Given the description of an element on the screen output the (x, y) to click on. 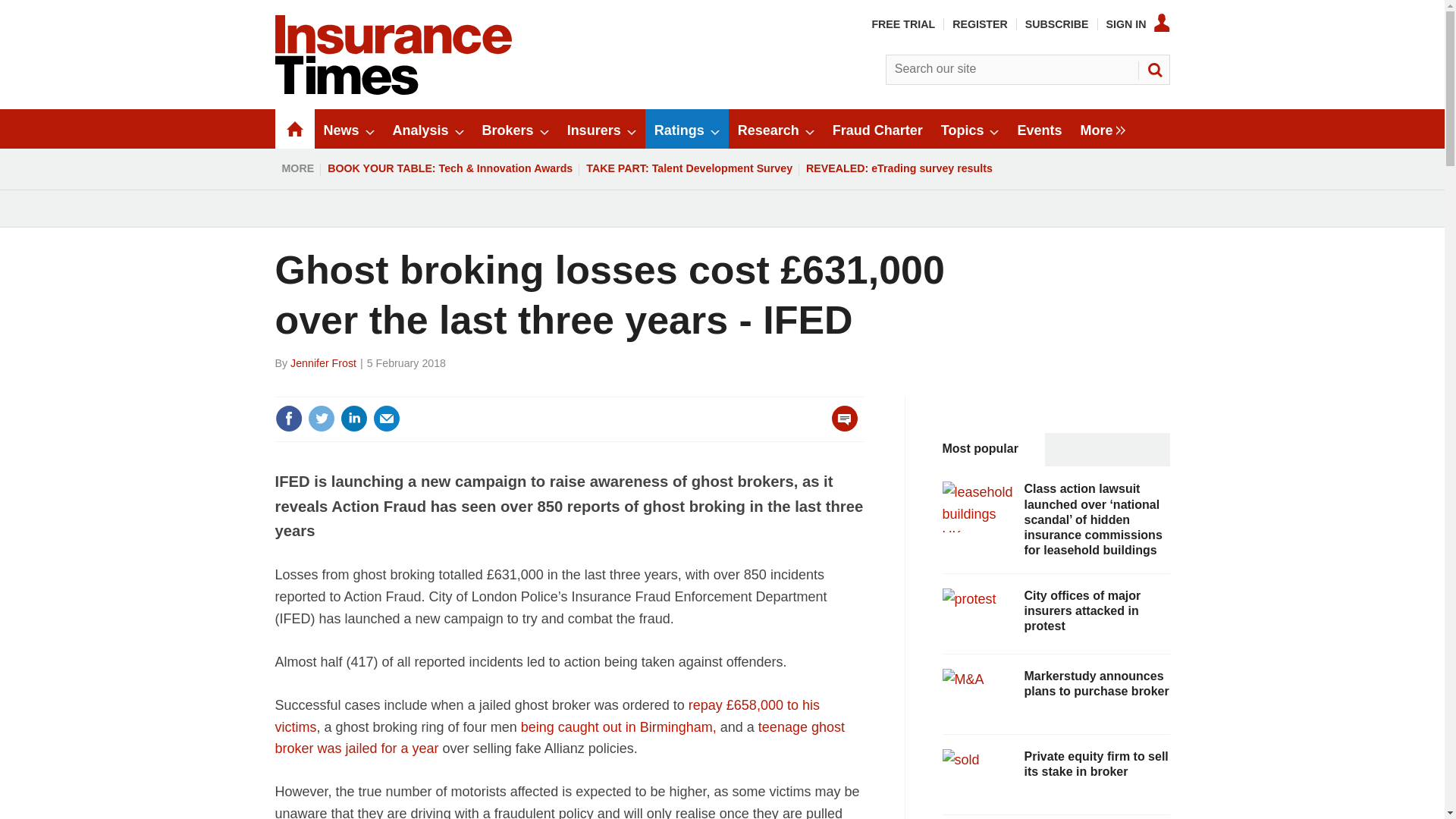
Share this on Linked in (352, 418)
TAKE PART: Talent Development Survey (689, 168)
REVEALED: eTrading survey results (898, 168)
FREE TRIAL (902, 24)
Share this on Twitter (320, 418)
Insert Logo text (393, 90)
SEARCH (1153, 69)
REGISTER (979, 24)
SUBSCRIBE (1057, 24)
No comments (840, 427)
Share this on Facebook (288, 418)
SIGN IN (1138, 24)
Email this article (386, 418)
